Given the description of an element on the screen output the (x, y) to click on. 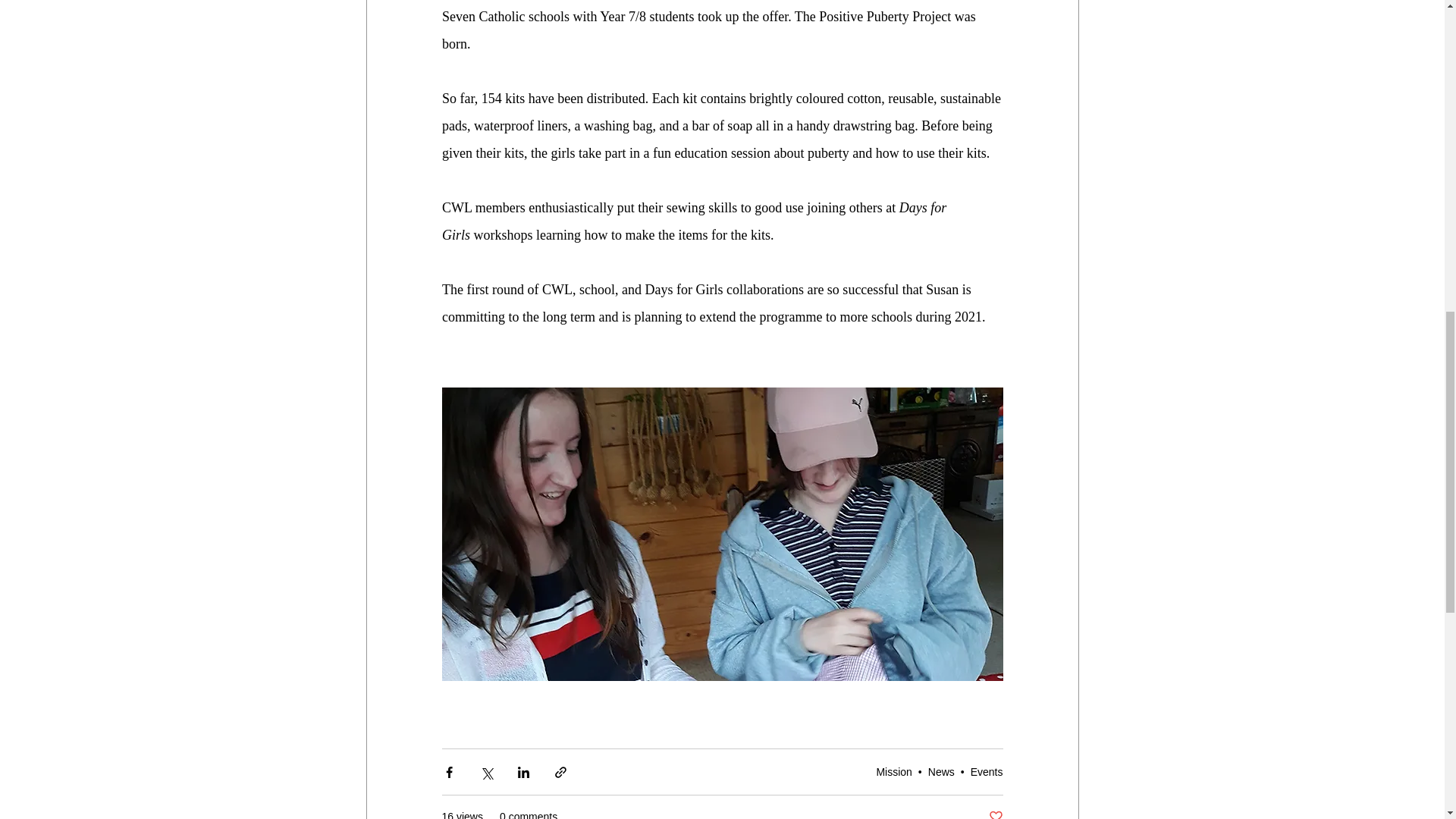
News (941, 771)
Post not marked as liked (995, 814)
Mission (893, 771)
Events (987, 771)
